Given the description of an element on the screen output the (x, y) to click on. 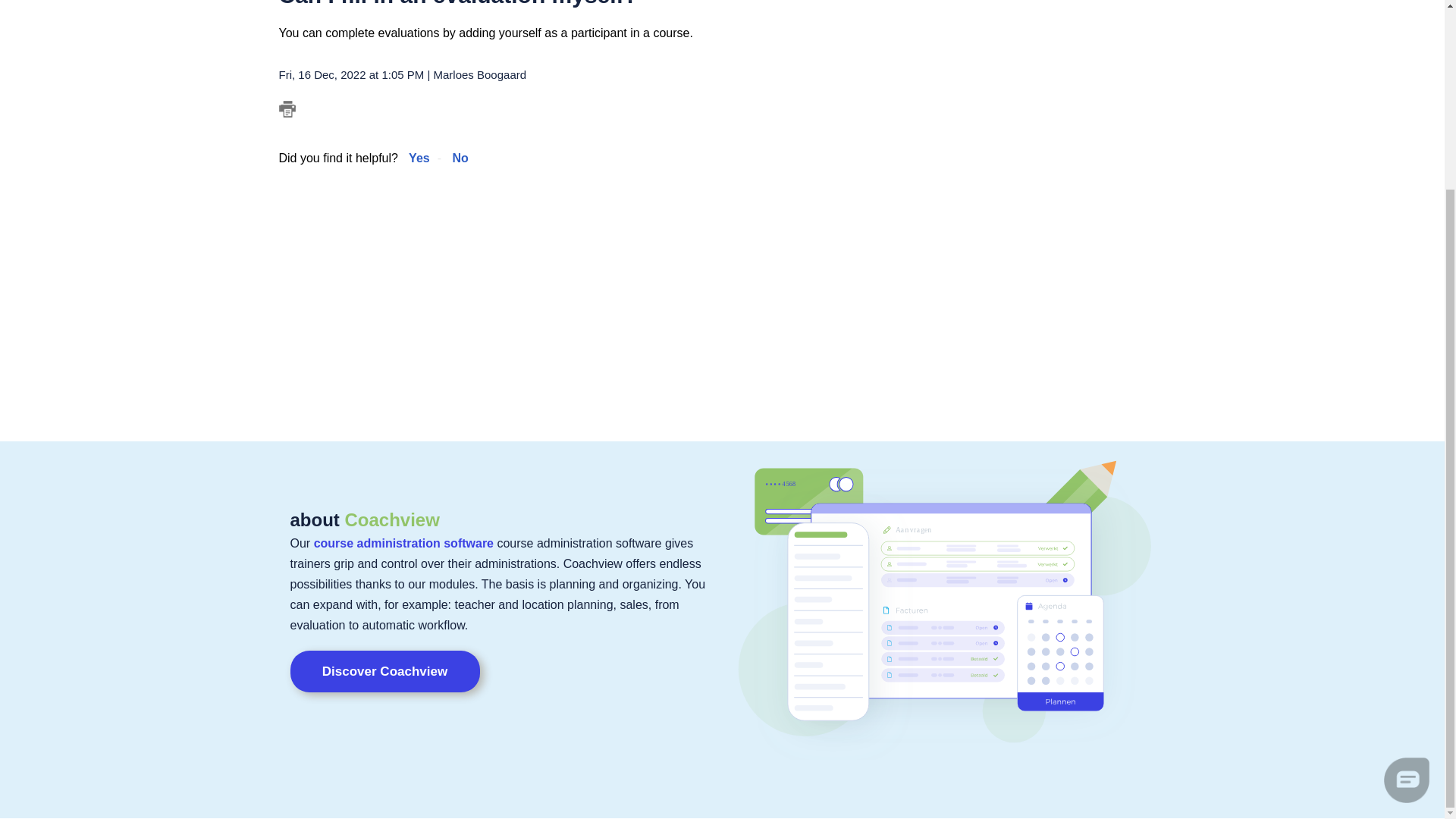
Demo met Coachview Cursusadministratie aanvragen (384, 671)
Print this Article (287, 108)
Discover Coachview (384, 671)
course administration software (403, 543)
